Given the description of an element on the screen output the (x, y) to click on. 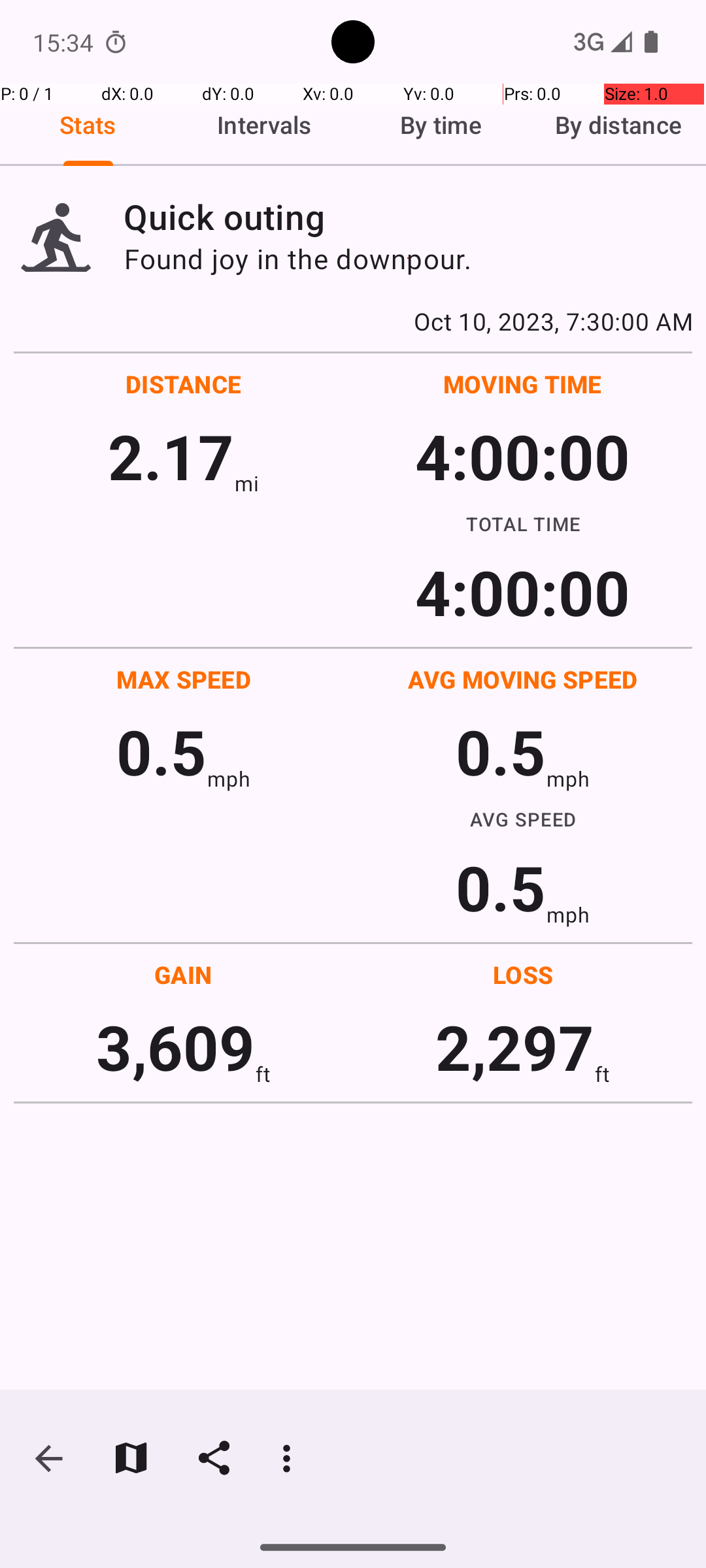
Quick outing Element type: android.widget.TextView (407, 216)
Found joy in the downpour. Element type: android.widget.TextView (407, 258)
Oct 10, 2023, 7:30:00 AM Element type: android.widget.TextView (352, 320)
2.17 Element type: android.widget.TextView (170, 455)
4:00:00 Element type: android.widget.TextView (522, 455)
0.5 Element type: android.widget.TextView (161, 750)
3,609 Element type: android.widget.TextView (175, 1045)
2,297 Element type: android.widget.TextView (514, 1045)
